Given the description of an element on the screen output the (x, y) to click on. 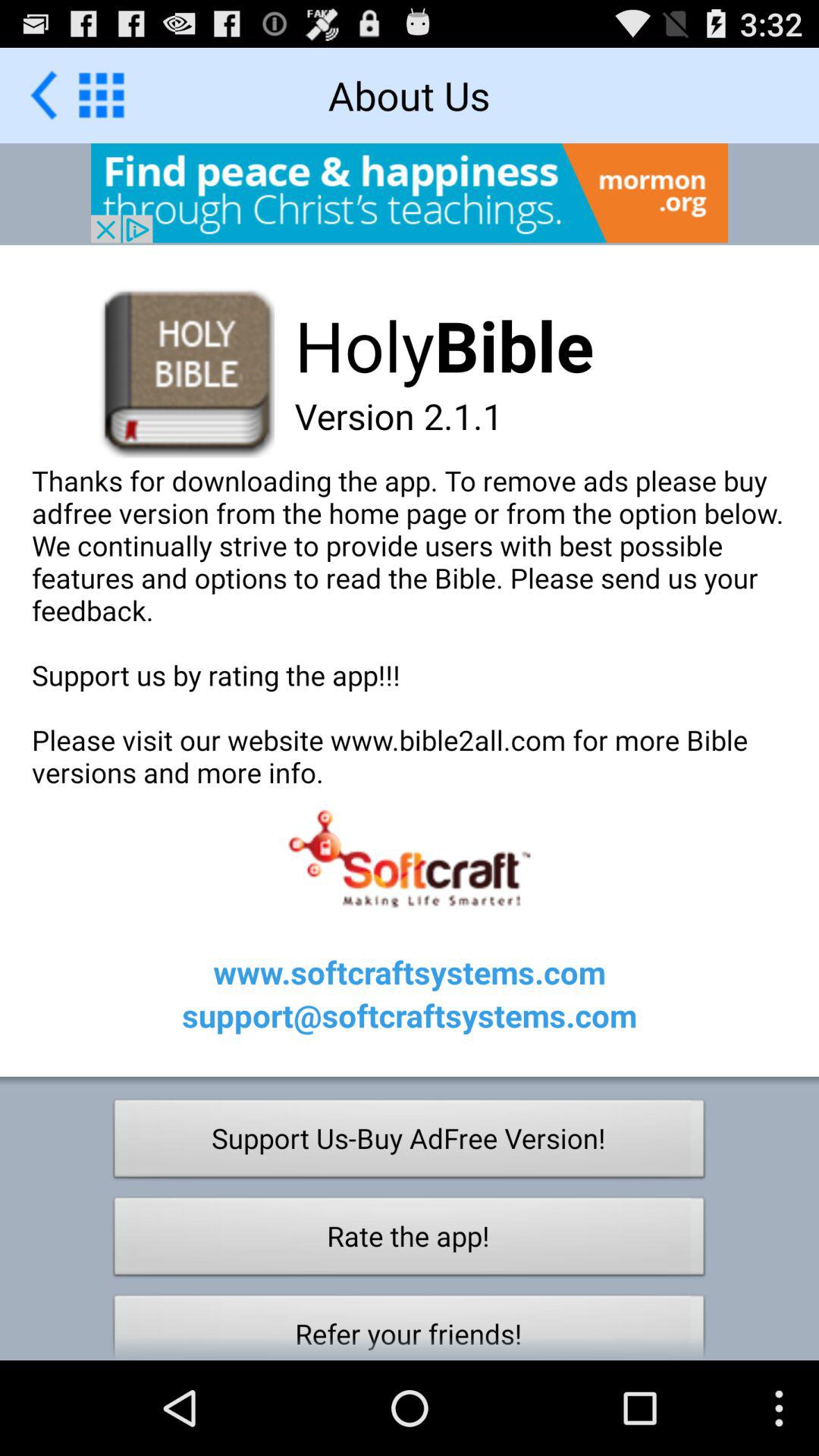
advertisement (409, 192)
